Given the description of an element on the screen output the (x, y) to click on. 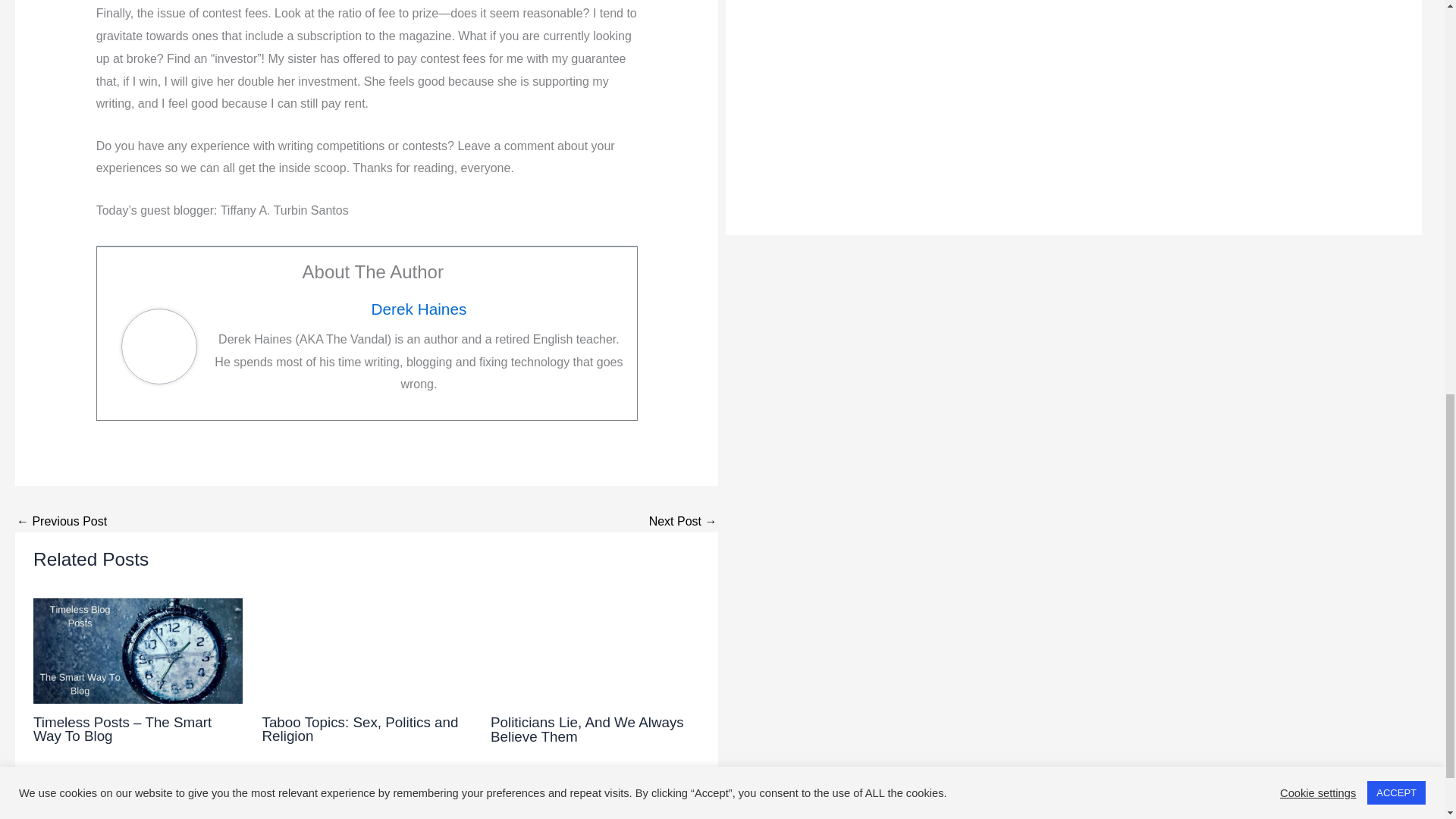
Derek Haines (418, 309)
Politicians Lie, And We Always Believe Them (587, 729)
Taboo Topics: Sex, Politics and Religion (360, 729)
Gloth Is Googleless (61, 521)
